Given the description of an element on the screen output the (x, y) to click on. 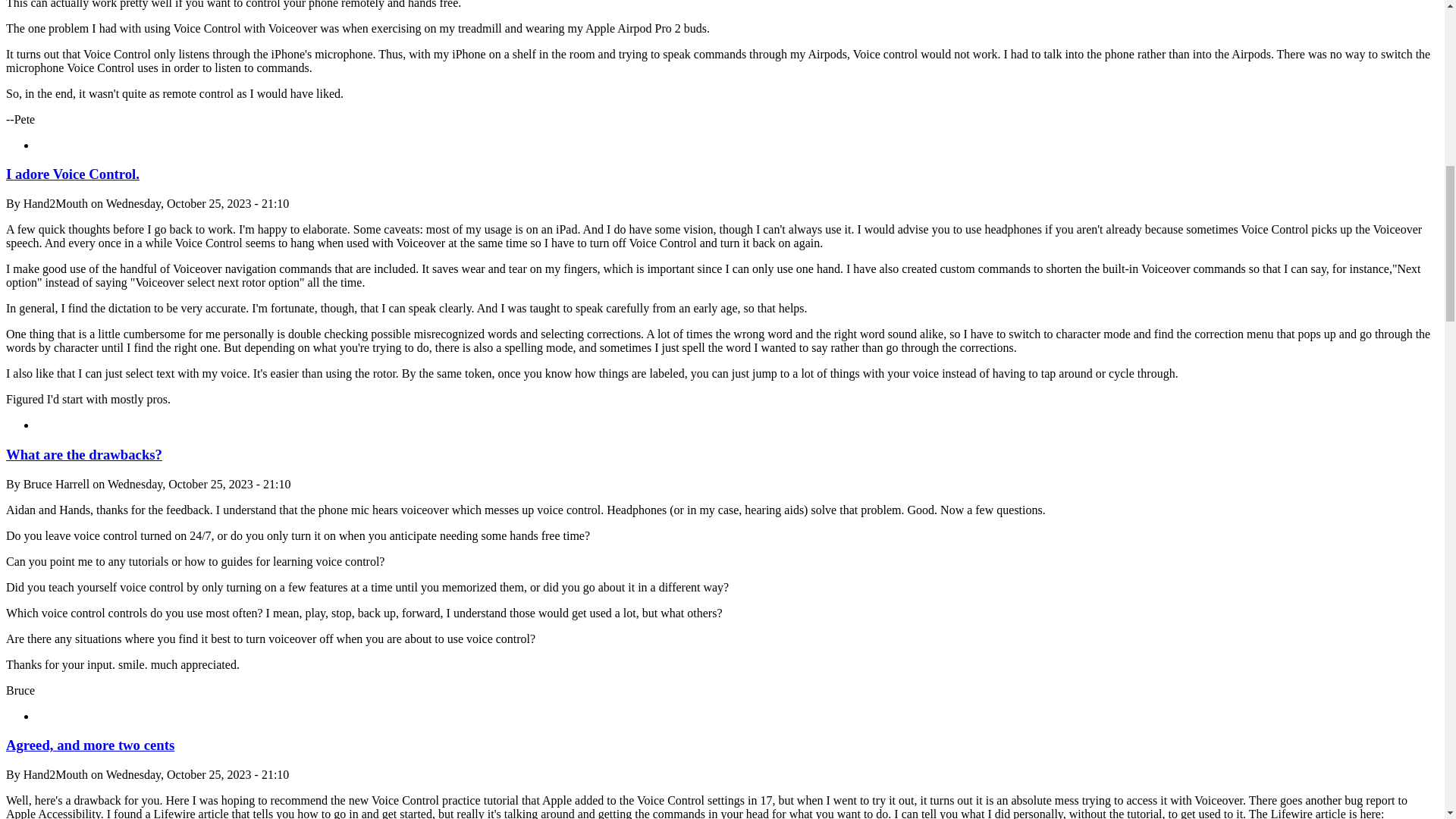
What are the drawbacks? (83, 454)
Agreed, and more two cents (89, 744)
I adore Voice Control. (72, 173)
